Given the description of an element on the screen output the (x, y) to click on. 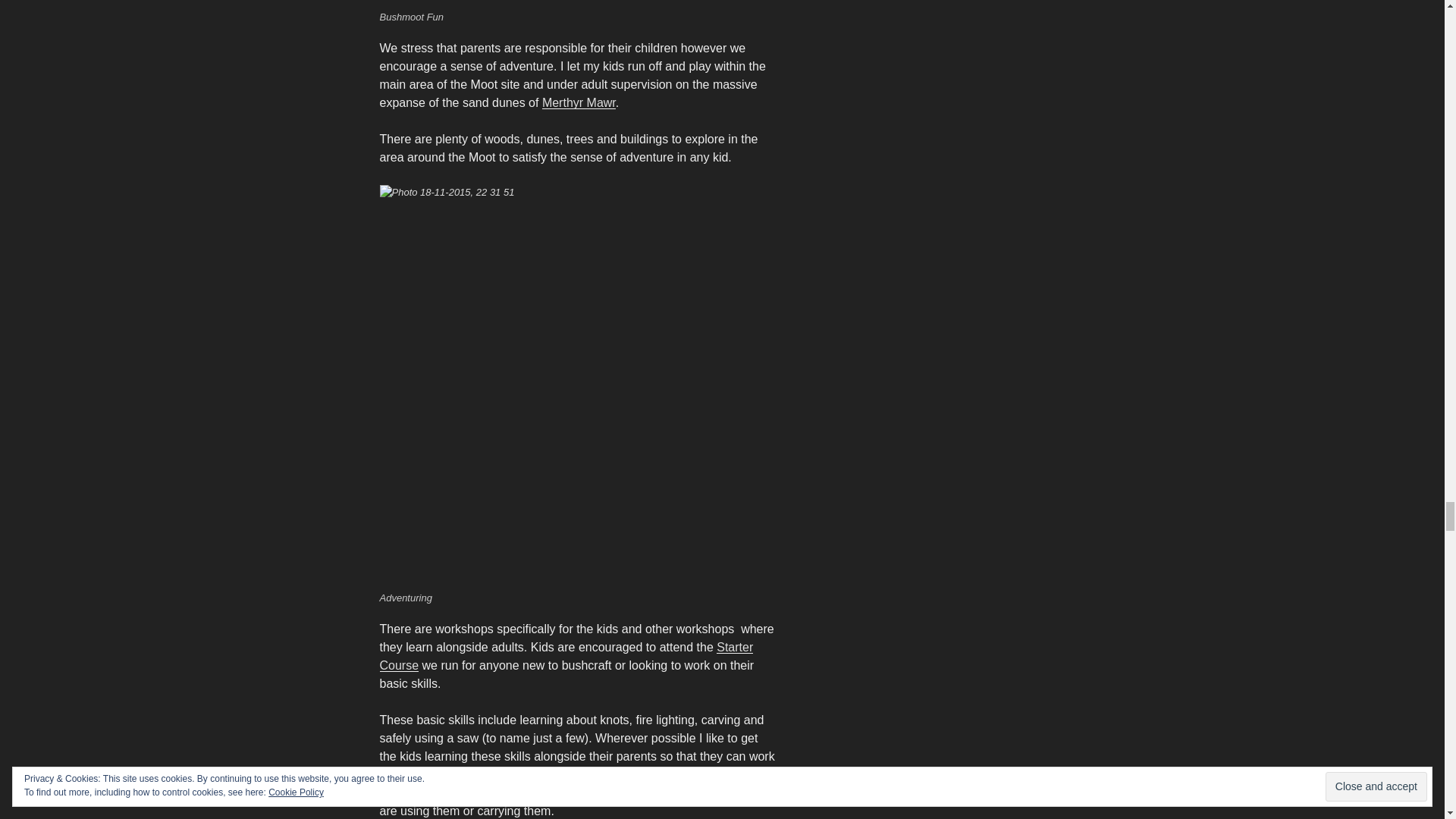
Merthyr Mawr (578, 102)
Starter Course (565, 655)
